Given the description of an element on the screen output the (x, y) to click on. 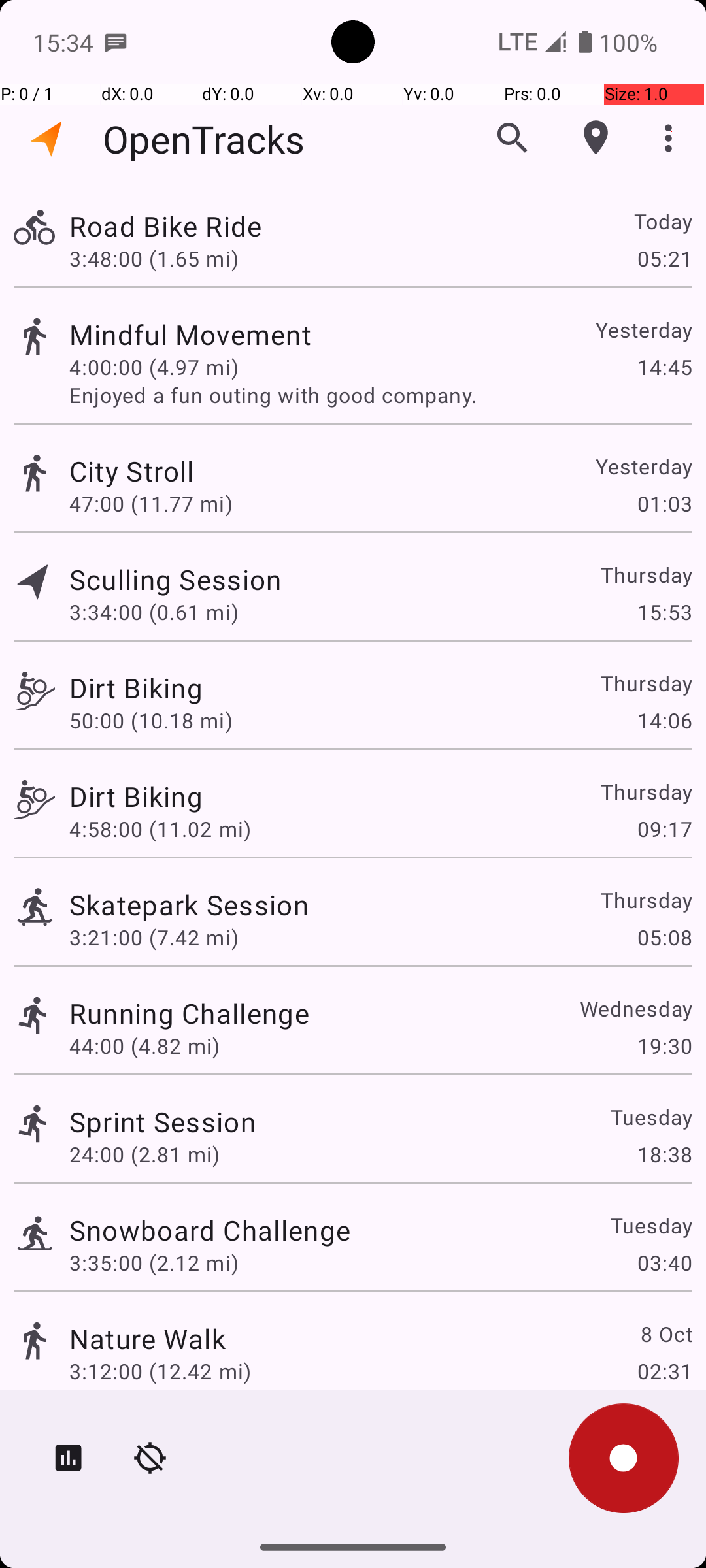
Road Bike Ride Element type: android.widget.TextView (165, 225)
3:48:00 (1.65 mi) Element type: android.widget.TextView (153, 258)
05:21 Element type: android.widget.TextView (664, 258)
Mindful Movement Element type: android.widget.TextView (189, 333)
4:00:00 (4.97 mi) Element type: android.widget.TextView (153, 366)
14:45 Element type: android.widget.TextView (664, 366)
Enjoyed a fun outing with good company. Element type: android.widget.TextView (380, 394)
City Stroll Element type: android.widget.TextView (131, 470)
47:00 (11.77 mi) Element type: android.widget.TextView (150, 503)
01:03 Element type: android.widget.TextView (664, 503)
Sculling Session Element type: android.widget.TextView (174, 578)
3:34:00 (0.61 mi) Element type: android.widget.TextView (153, 611)
15:53 Element type: android.widget.TextView (664, 611)
Dirt Biking Element type: android.widget.TextView (135, 687)
50:00 (10.18 mi) Element type: android.widget.TextView (150, 720)
14:06 Element type: android.widget.TextView (664, 720)
4:58:00 (11.02 mi) Element type: android.widget.TextView (159, 828)
09:17 Element type: android.widget.TextView (664, 828)
Skatepark Session Element type: android.widget.TextView (188, 904)
3:21:00 (7.42 mi) Element type: android.widget.TextView (153, 937)
05:08 Element type: android.widget.TextView (664, 937)
Running Challenge Element type: android.widget.TextView (188, 1012)
44:00 (4.82 mi) Element type: android.widget.TextView (144, 1045)
19:30 Element type: android.widget.TextView (664, 1045)
Sprint Session Element type: android.widget.TextView (162, 1121)
24:00 (2.81 mi) Element type: android.widget.TextView (144, 1154)
18:38 Element type: android.widget.TextView (664, 1154)
Snowboard Challenge Element type: android.widget.TextView (209, 1229)
3:35:00 (2.12 mi) Element type: android.widget.TextView (153, 1262)
03:40 Element type: android.widget.TextView (664, 1262)
Nature Walk Element type: android.widget.TextView (147, 1337)
3:12:00 (12.42 mi) Element type: android.widget.TextView (159, 1370)
02:31 Element type: android.widget.TextView (664, 1370)
